Given the description of an element on the screen output the (x, y) to click on. 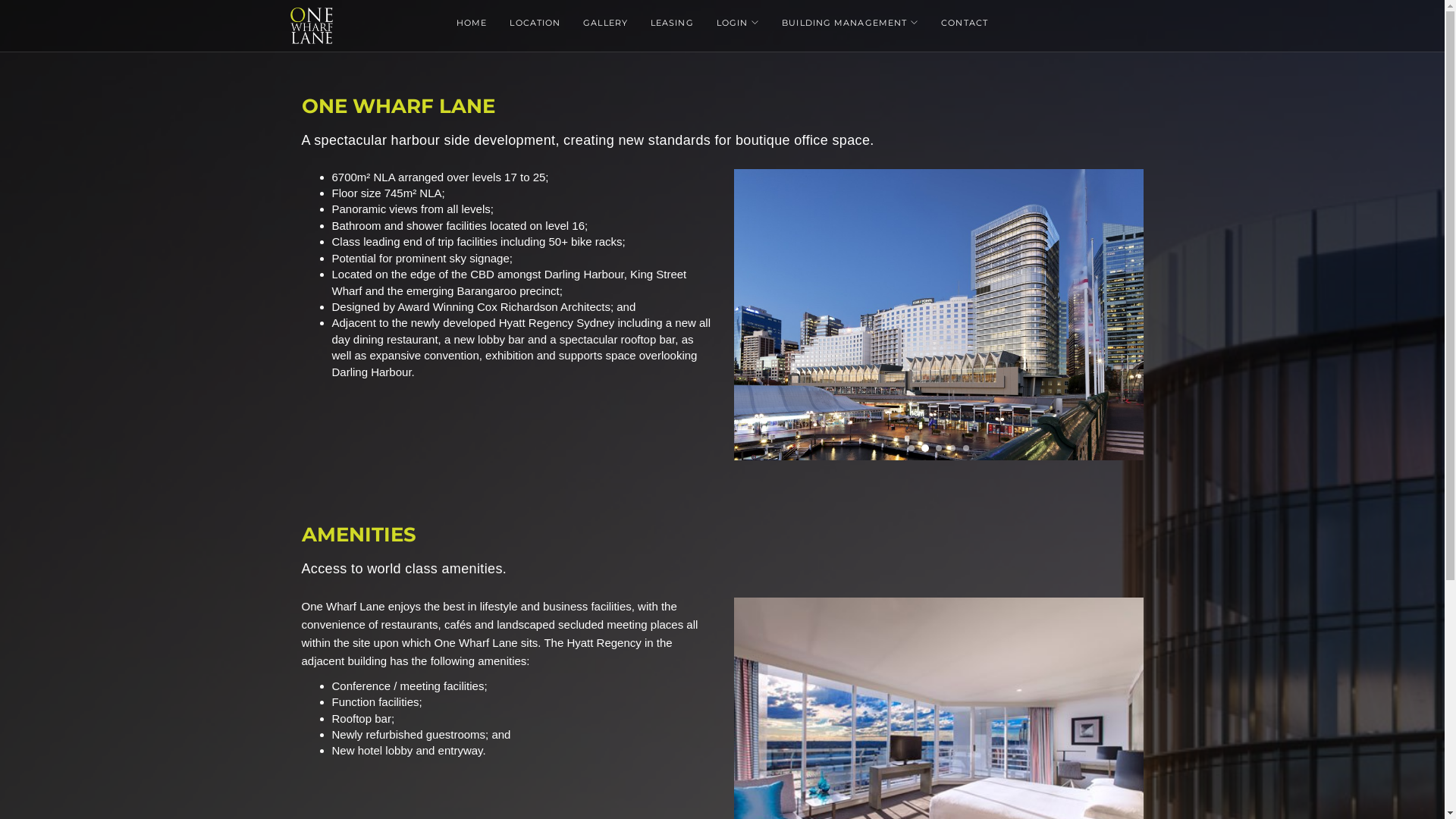
CONTACT Element type: text (964, 23)
4 Element type: text (952, 448)
LOGIN Element type: text (738, 23)
3 Element type: text (938, 448)
1 Element type: text (911, 448)
2 Element type: text (925, 448)
5 Element type: text (966, 448)
LEASING Element type: text (672, 23)
BUILDING MANAGEMENT Element type: text (849, 23)
GALLERY Element type: text (605, 23)
LOCATION Element type: text (534, 23)
HOME Element type: text (471, 23)
